Given the description of an element on the screen output the (x, y) to click on. 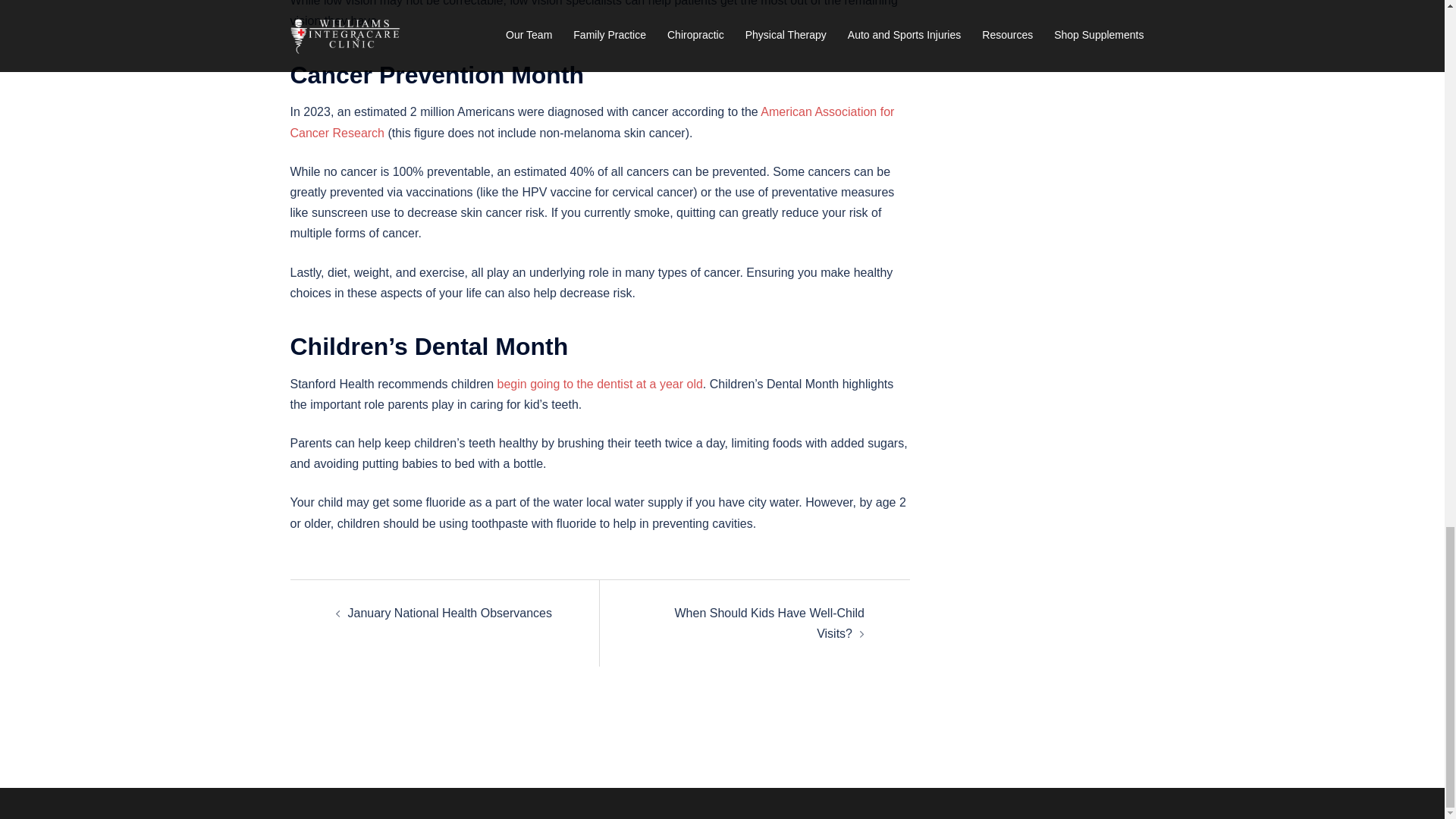
begin going to the dentist at a year old (600, 383)
January National Health Observances (449, 612)
American Association for Cancer Research (591, 121)
When Should Kids Have Well-Child Visits? (769, 622)
